Given the description of an element on the screen output the (x, y) to click on. 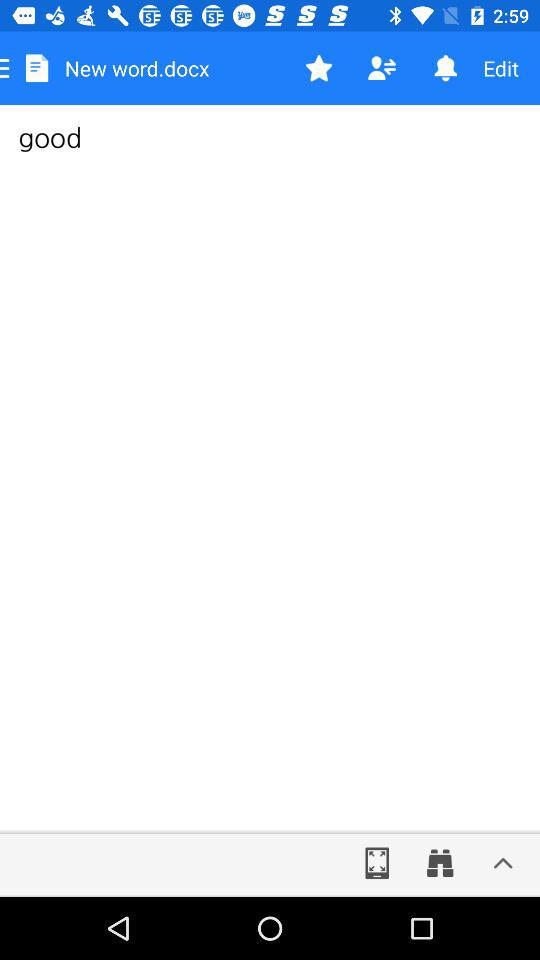
full screen (377, 863)
